Given the description of an element on the screen output the (x, y) to click on. 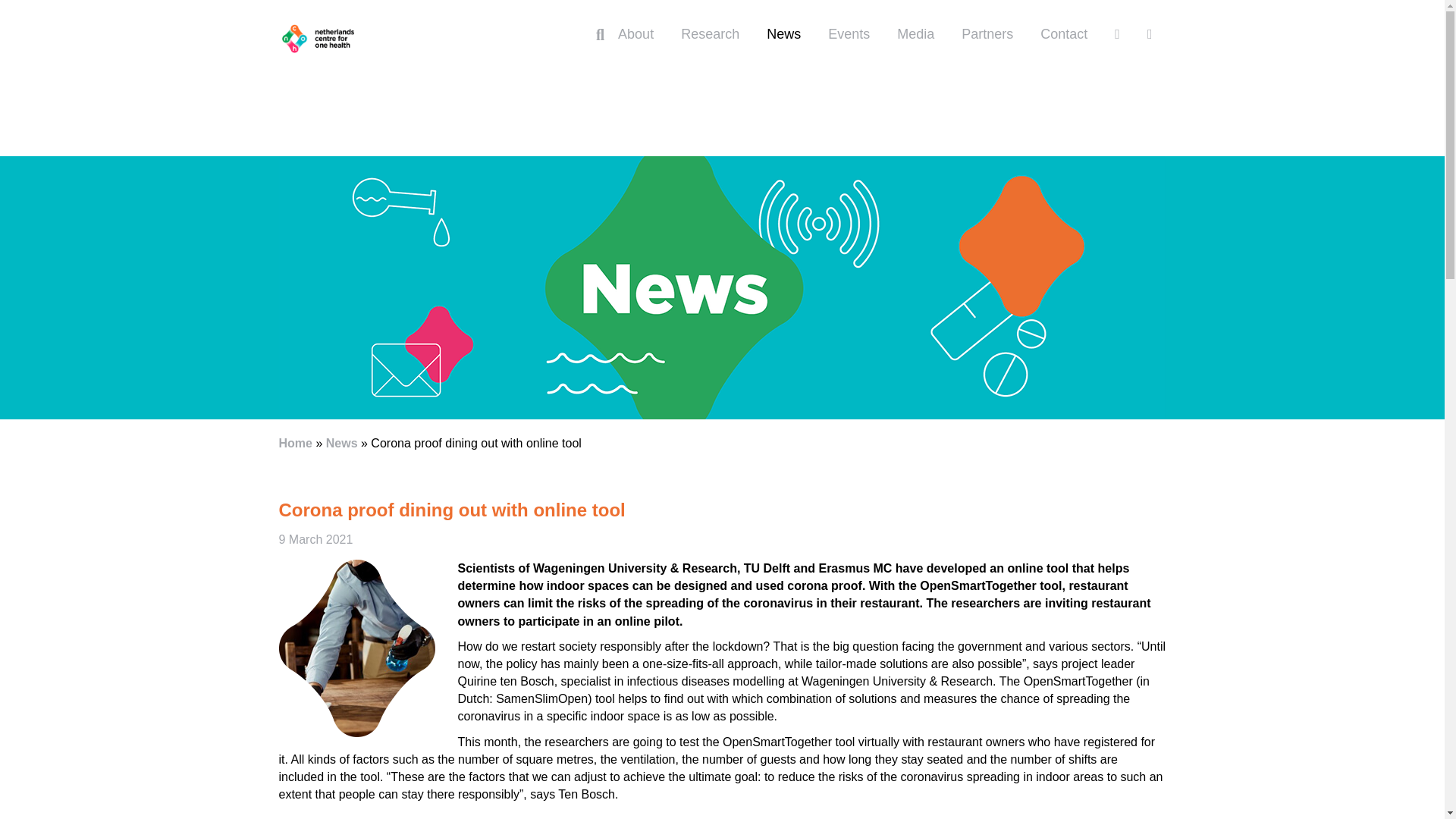
Partners (986, 34)
Research (709, 34)
News (782, 34)
News (342, 442)
Contact (1063, 34)
Media (915, 34)
About (635, 34)
Corona proof dining out with online tool (452, 509)
Events (848, 34)
